Given the description of an element on the screen output the (x, y) to click on. 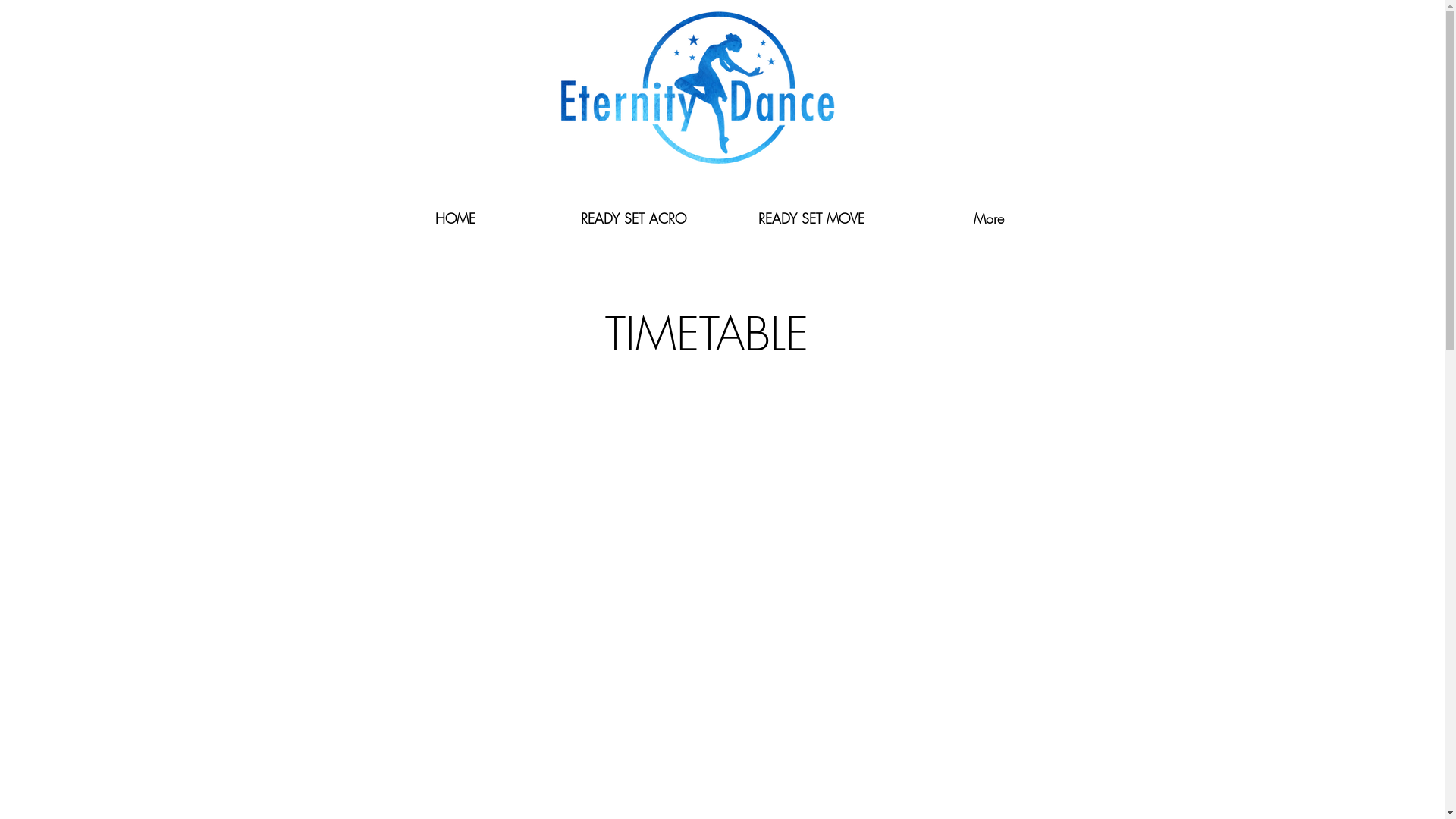
HOME Element type: text (454, 218)
READY SET ACRO Element type: text (633, 218)
READY SET MOVE Element type: text (810, 218)
